Given the description of an element on the screen output the (x, y) to click on. 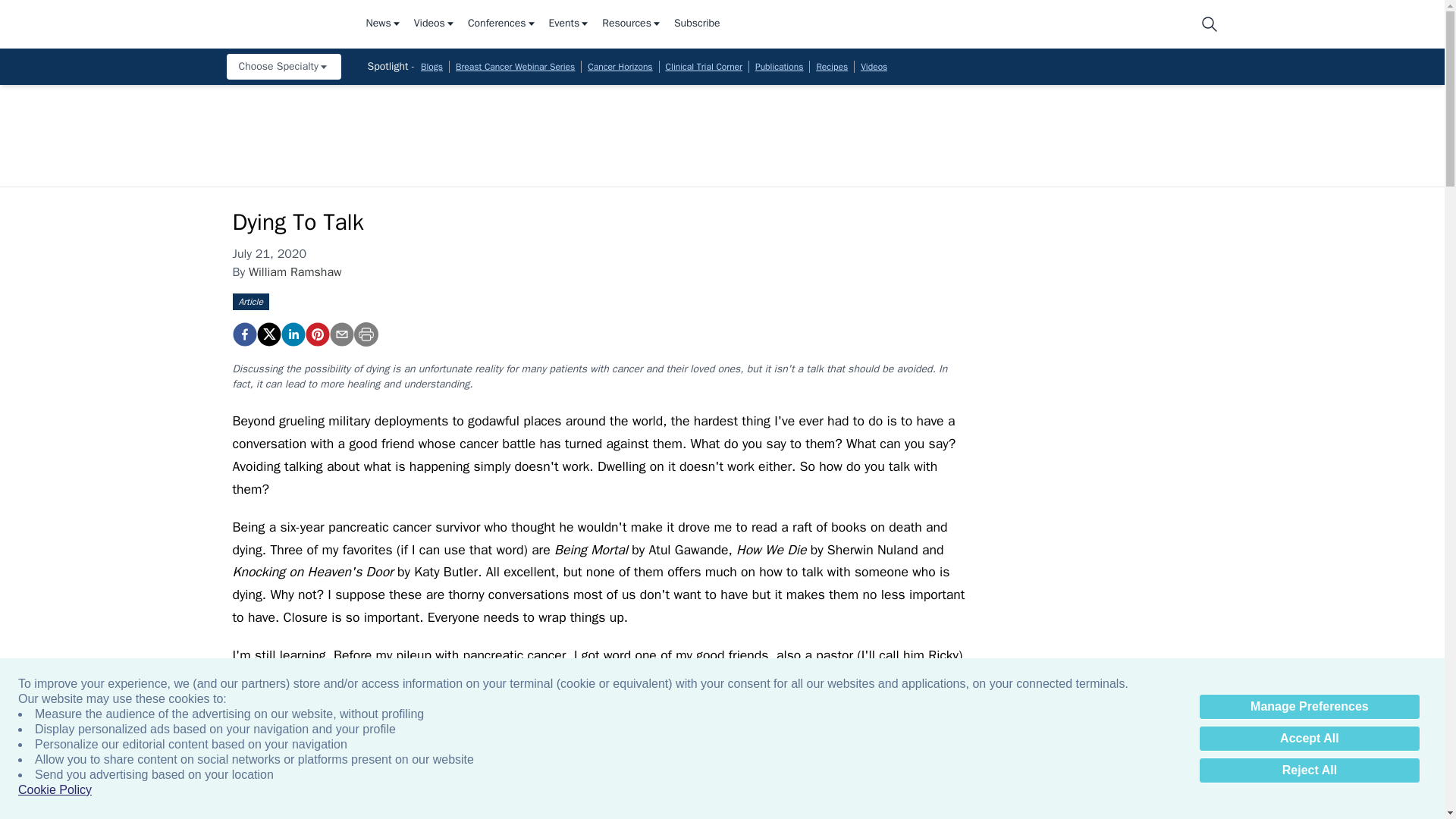
Events (569, 23)
Cookie Policy (54, 789)
Resources (632, 23)
Dying To Talk (243, 334)
Manage Preferences (1309, 706)
Videos (434, 23)
News (383, 23)
Reject All (1309, 769)
Conferences (502, 23)
Accept All (1309, 738)
